Given the description of an element on the screen output the (x, y) to click on. 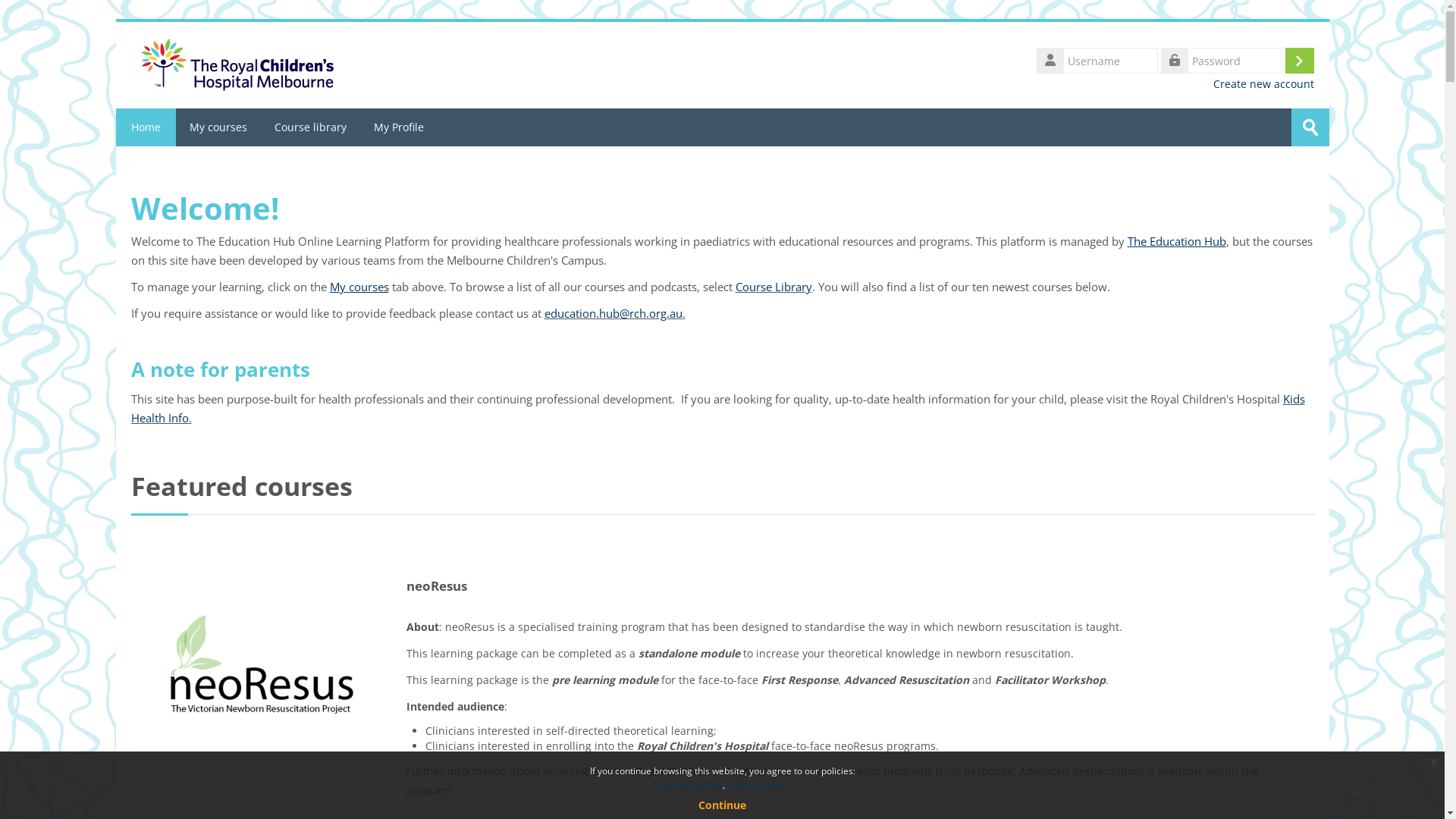
My Profile Element type: text (397, 127)
Continue Element type: text (722, 804)
My courses Element type: text (358, 286)
education.hub@rch.org.au Element type: text (613, 312)
x Element type: text (1433, 761)
My courses Element type: text (217, 127)
Kids Health Info Element type: text (717, 408)
Submit Element type: text (1309, 127)
The Education Hub Element type: text (1175, 240)
neoResus Element type: text (436, 585)
Site disclaimer Element type: text (691, 784)
Terms of Use Element type: text (755, 784)
Course Library Element type: text (773, 286)
Home Element type: hover (236, 63)
Home Element type: text (145, 127)
Log in Element type: text (1298, 60)
Create new account Element type: text (1263, 84)
Course library Element type: text (310, 127)
